Given the description of an element on the screen output the (x, y) to click on. 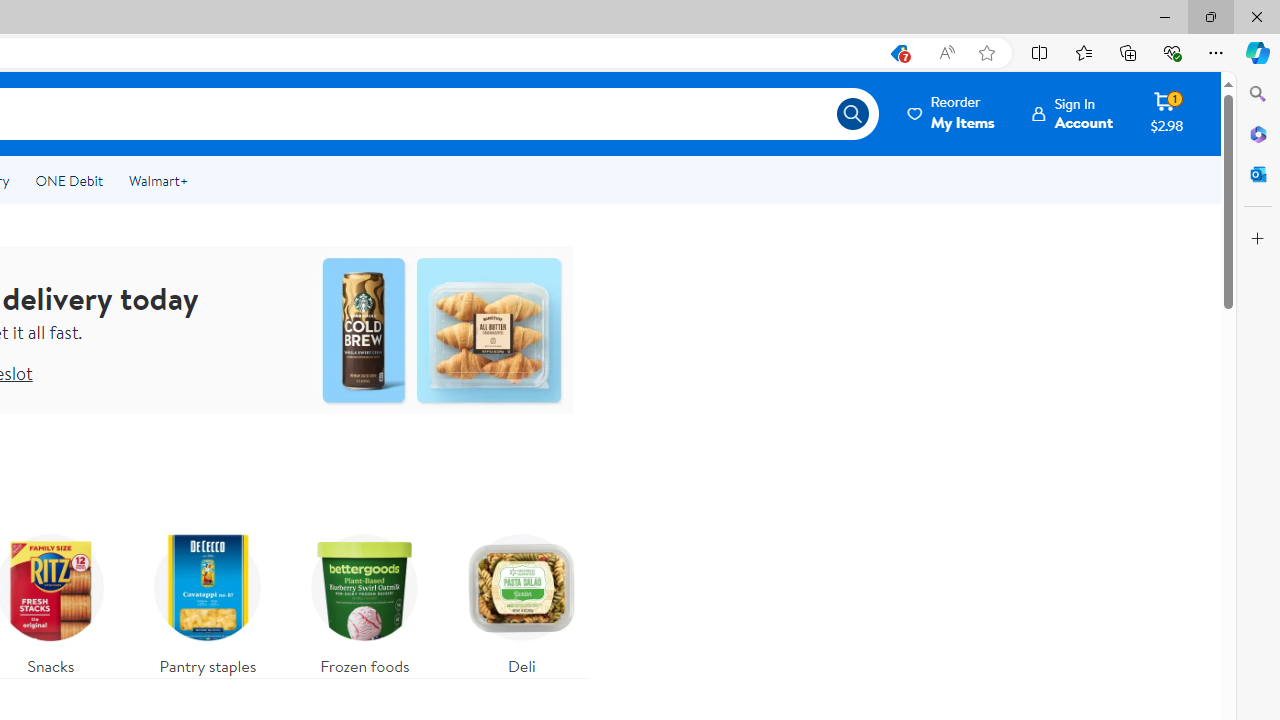
This site has coupons! Shopping in Microsoft Edge, 7 (898, 53)
Frozen foods (365, 599)
Frozen foods (364, 599)
Deli (521, 599)
ReorderMy Items (952, 113)
Sign InAccount (1072, 113)
Walmart+ (158, 180)
Sign In Account (1072, 113)
Pantry staples (207, 599)
Reorder My Items (952, 113)
